Given the description of an element on the screen output the (x, y) to click on. 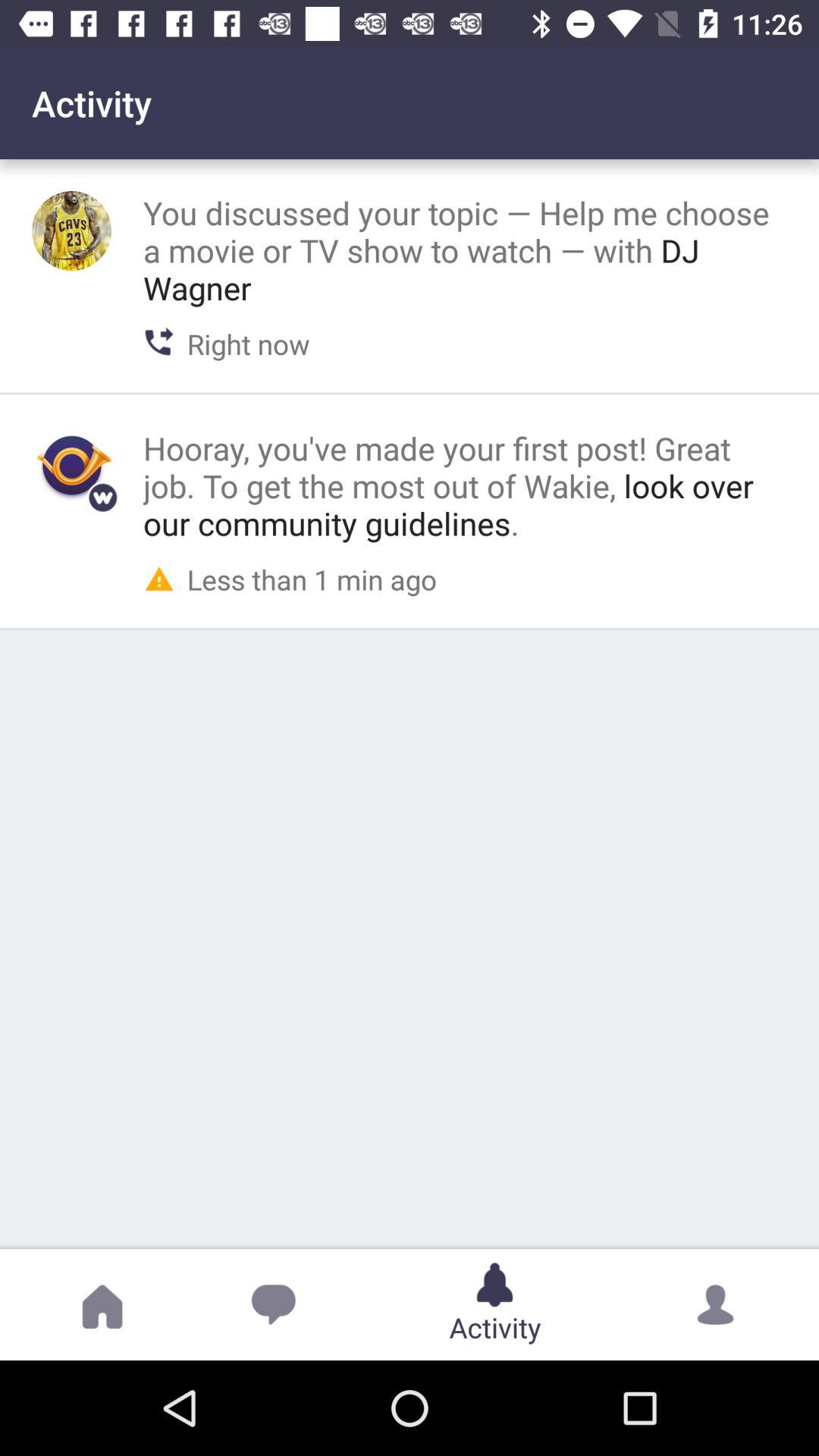
activity icon (71, 466)
